Given the description of an element on the screen output the (x, y) to click on. 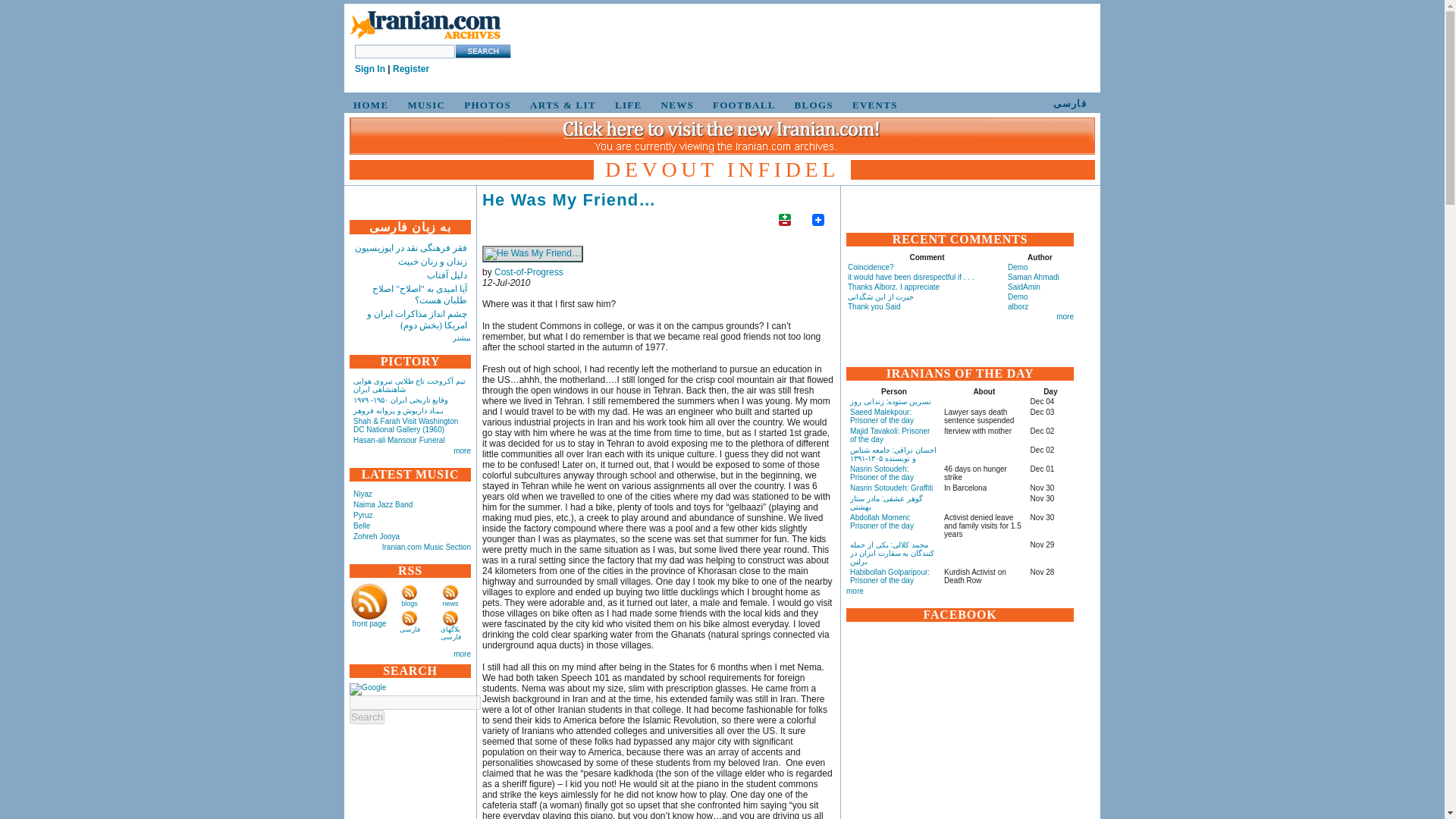
Niyaz (362, 493)
LIFE (625, 105)
news (450, 603)
Belle (361, 525)
Zohreh Jooya (375, 536)
Search this Site (483, 51)
more (461, 450)
blogs (409, 603)
HOME (368, 105)
Home (424, 25)
View user profile. (529, 271)
EVENTS (872, 105)
PHOTOS (484, 105)
Pyruz (362, 515)
Naima Jazz Band (382, 504)
